Given the description of an element on the screen output the (x, y) to click on. 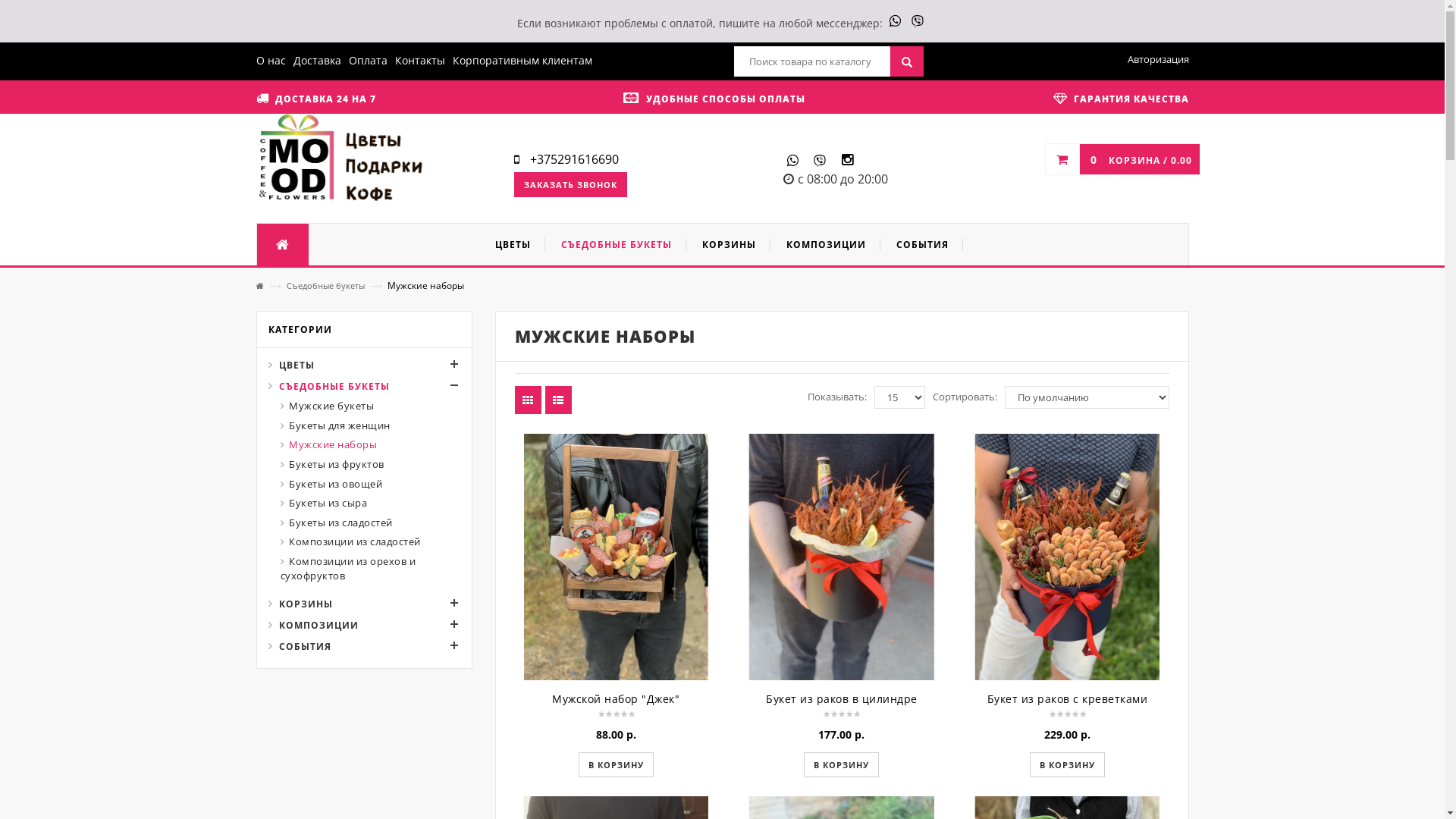
MOOD Element type: hover (340, 158)
